Given the description of an element on the screen output the (x, y) to click on. 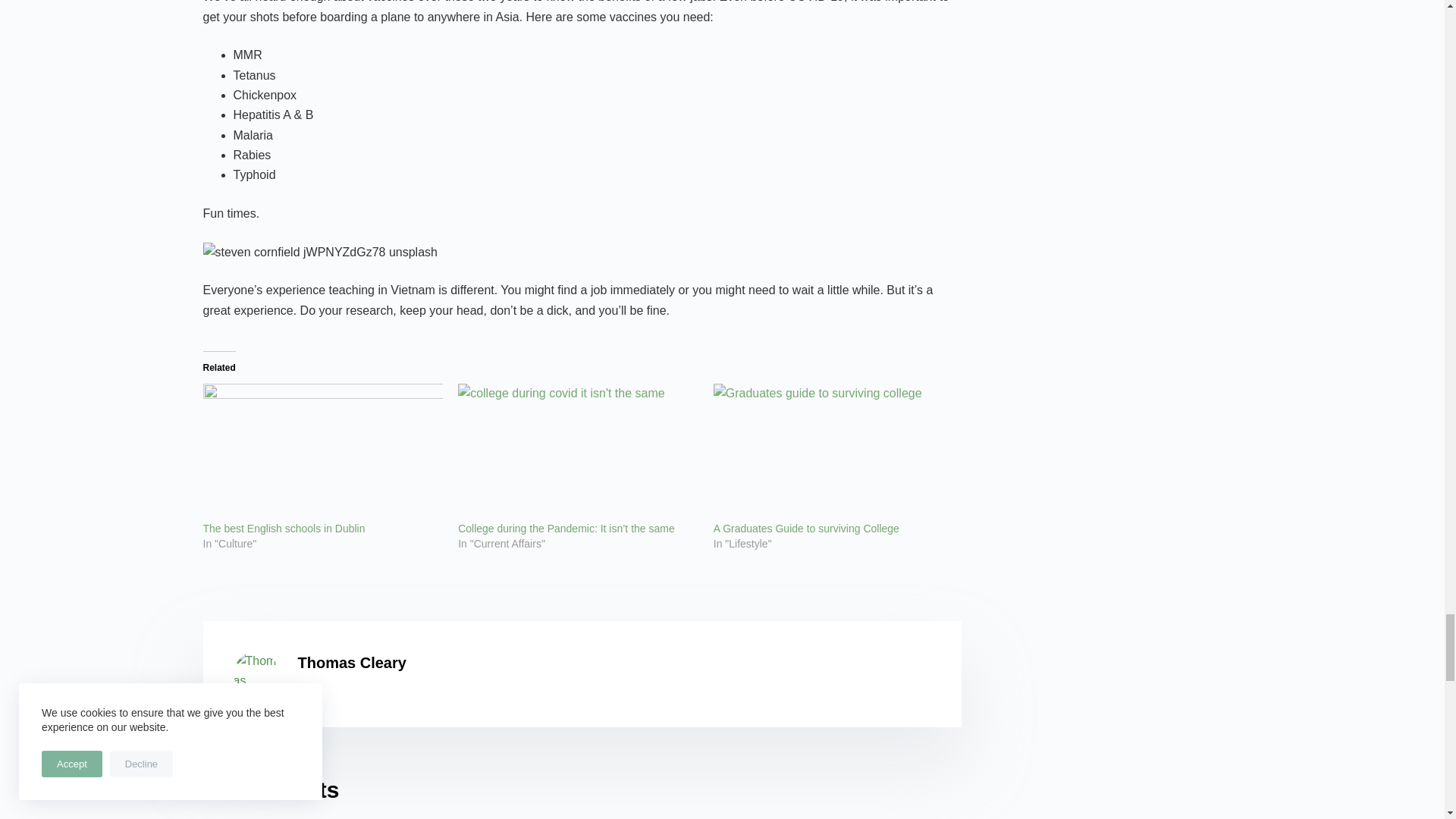
A Graduates Guide to surviving College (806, 528)
A Graduates Guide to surviving College (833, 452)
The best English schools in Dublin (284, 528)
Thomas Cleary (255, 673)
Teaching in Vietnam: A Guide for Working Success 5 (320, 252)
The best English schools in Dublin (323, 452)
